Given the description of an element on the screen output the (x, y) to click on. 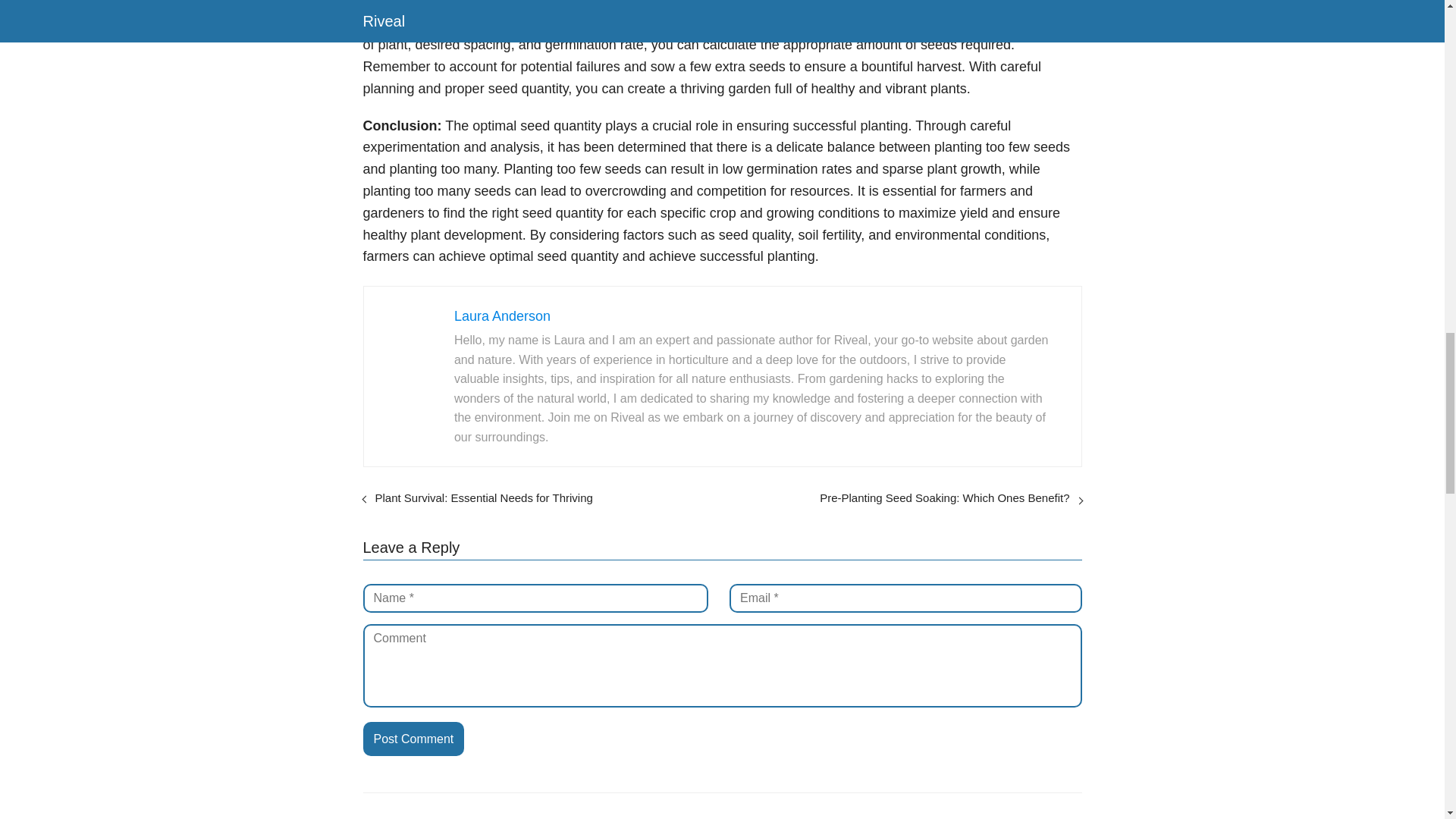
Laura Anderson (502, 315)
Plant Survival: Essential Needs for Thriving (483, 497)
Post Comment (413, 738)
Pre-Planting Seed Soaking: Which Ones Benefit? (943, 497)
Post Comment (413, 738)
